Given the description of an element on the screen output the (x, y) to click on. 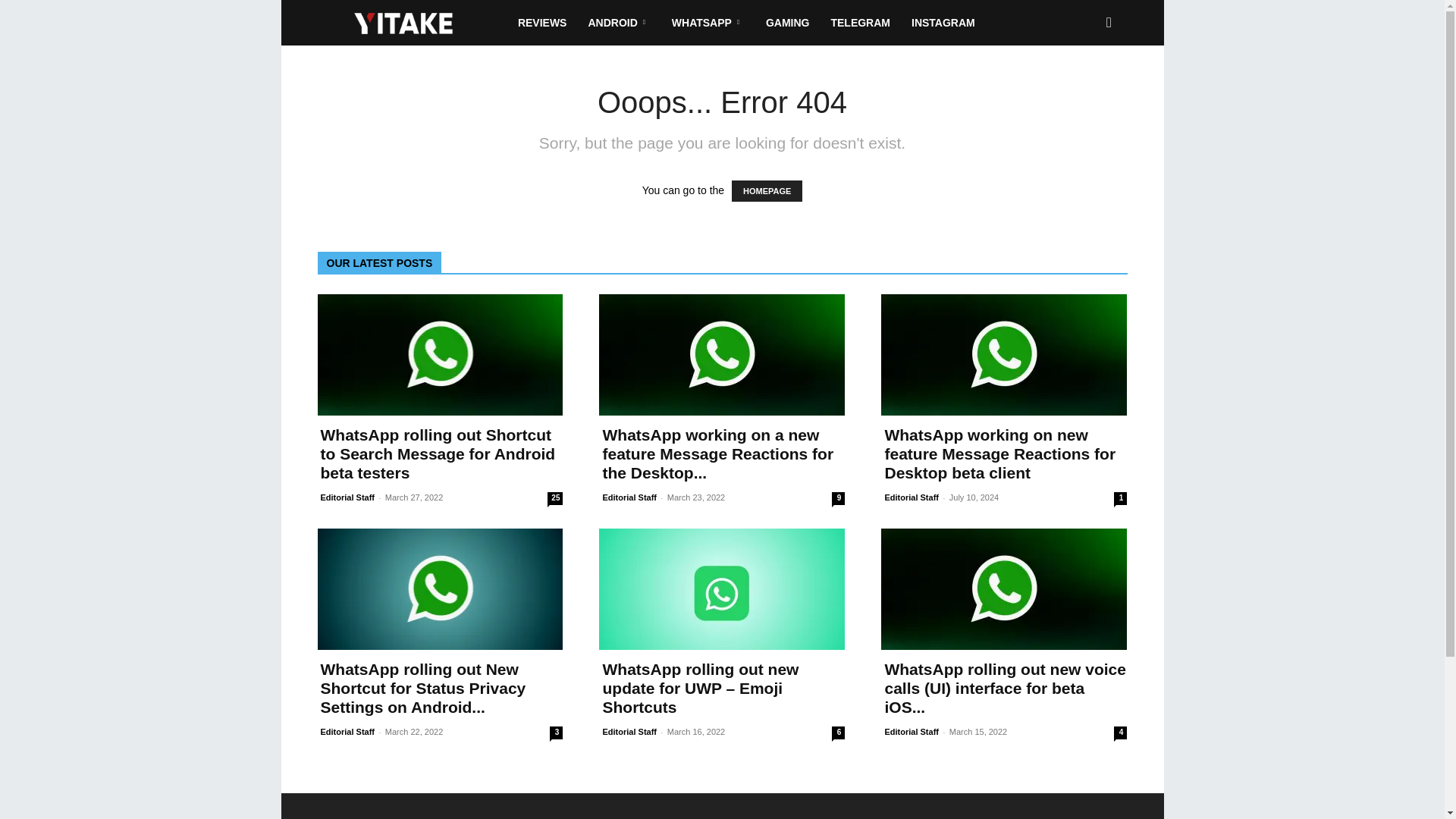
TELEGRAM (860, 22)
Yitake.net (404, 22)
Editorial Staff (347, 497)
REVIEWS (542, 22)
INSTAGRAM (943, 22)
WHATSAPP (708, 22)
